Given the description of an element on the screen output the (x, y) to click on. 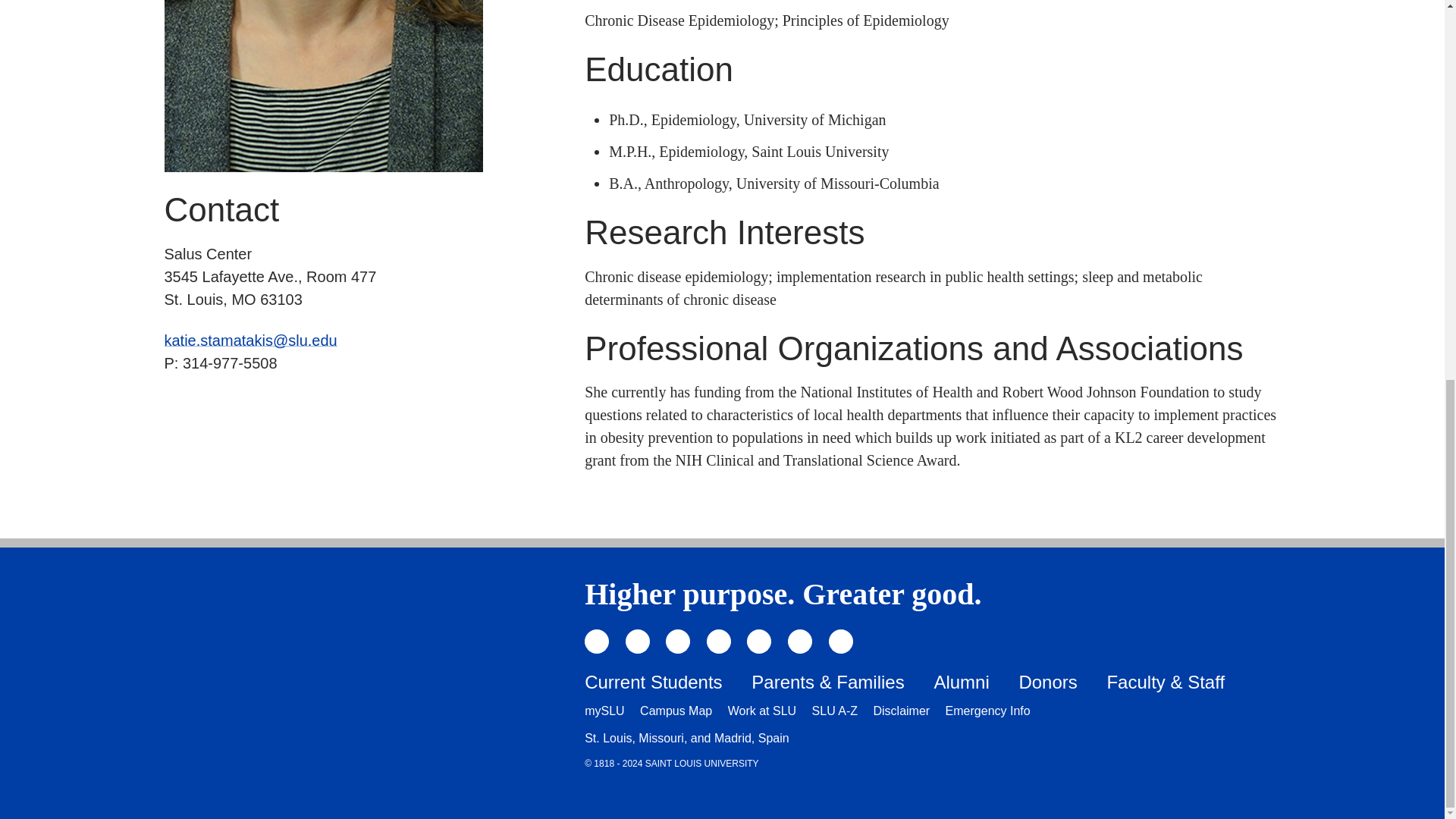
Donors (1047, 681)
Alumni (960, 681)
Current Students (653, 681)
